Given the description of an element on the screen output the (x, y) to click on. 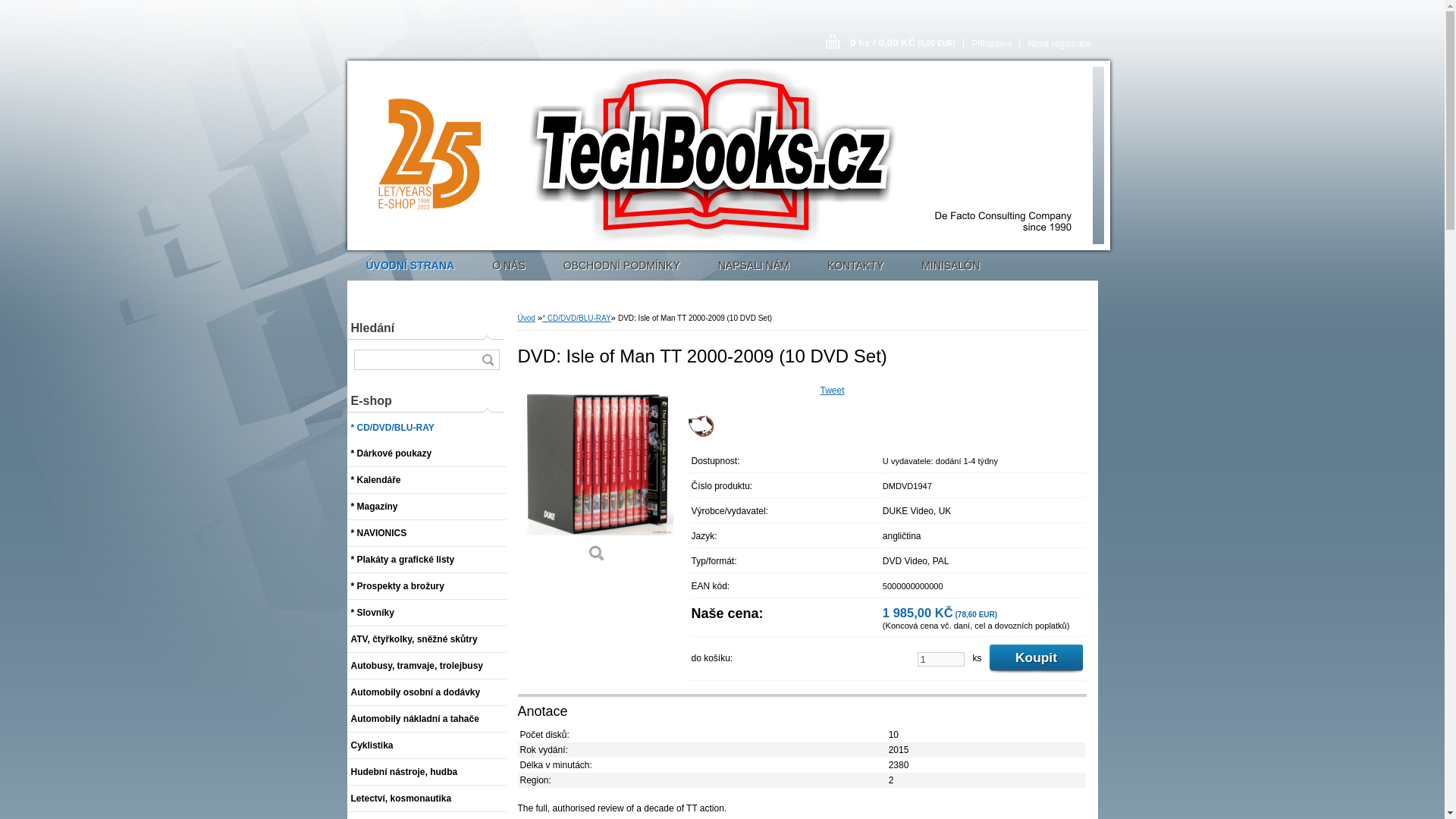
KONTAKTY (855, 265)
Cyklistika (426, 745)
Koupit (1035, 659)
1 (940, 658)
Autobusy, tramvaje, trolejbusy (426, 665)
